Given the description of an element on the screen output the (x, y) to click on. 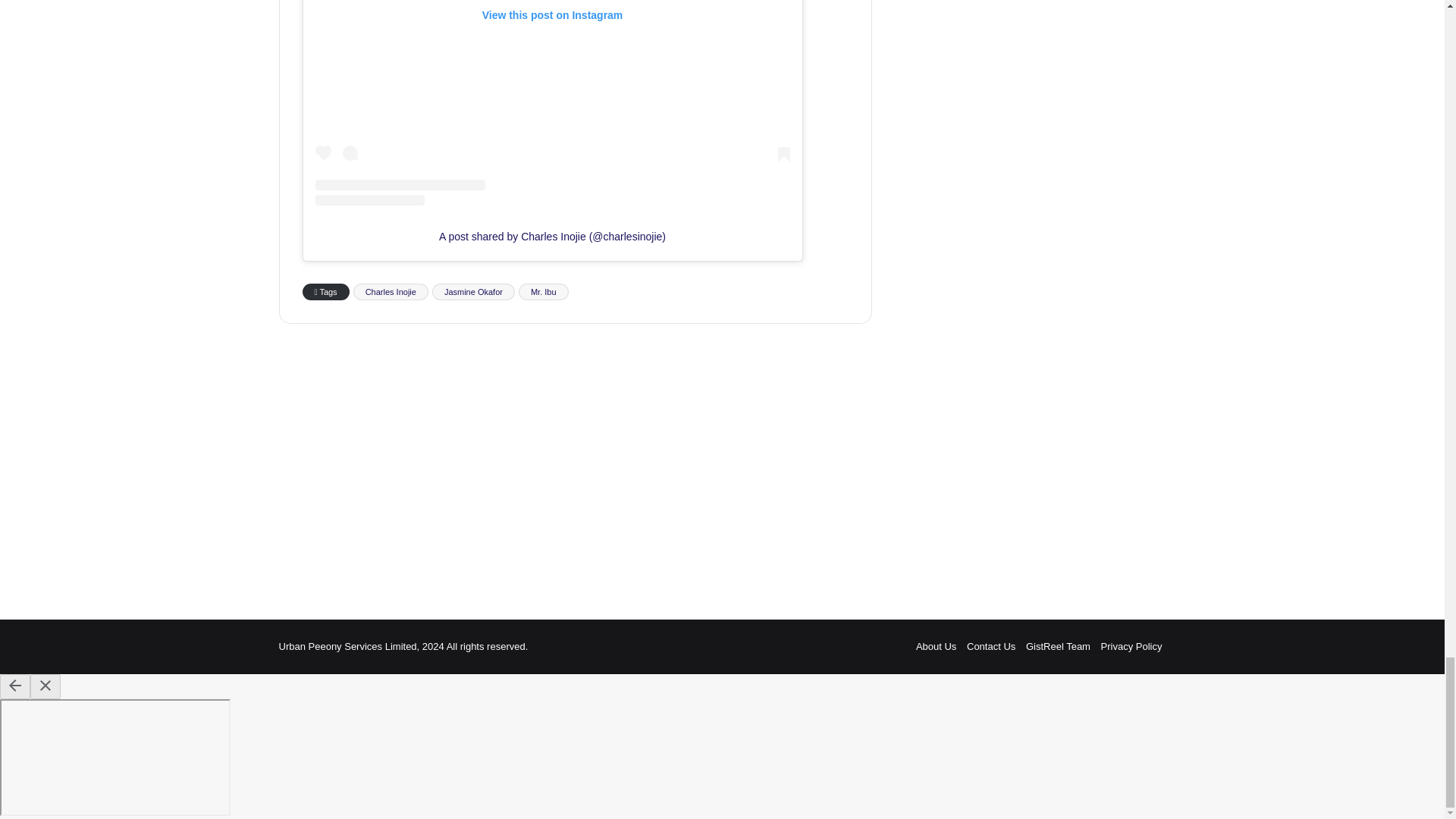
Mr. Ibu (543, 291)
About Us (935, 645)
Contact Us (990, 645)
Privacy Policy (1130, 645)
Jasmine Okafor (473, 291)
View this post on Instagram (552, 102)
Charles Inojie (390, 291)
GistReel Team (1058, 645)
